Given the description of an element on the screen output the (x, y) to click on. 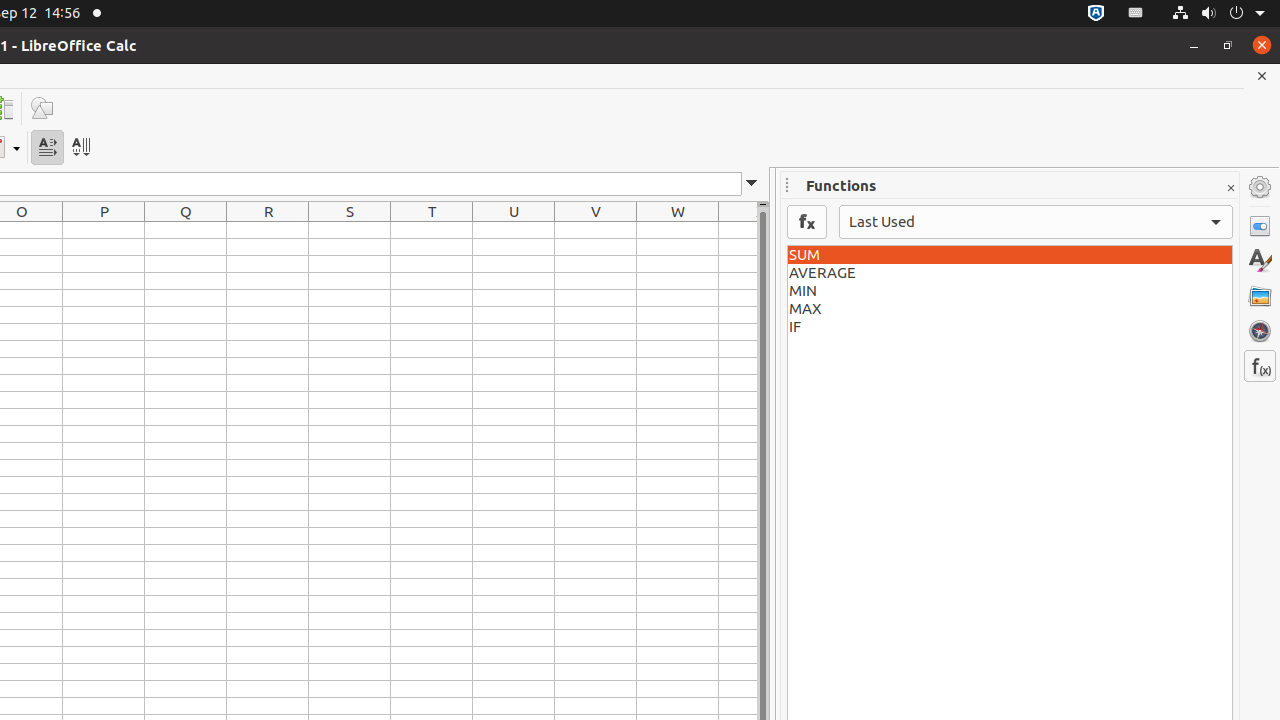
T1 Element type: table-cell (432, 230)
Expand Formula Bar Element type: push-button (752, 183)
MIN Element type: list-item (1010, 291)
SUM Element type: list-item (1010, 255)
:1.72/StatusNotifierItem Element type: menu (1096, 13)
